Given the description of an element on the screen output the (x, y) to click on. 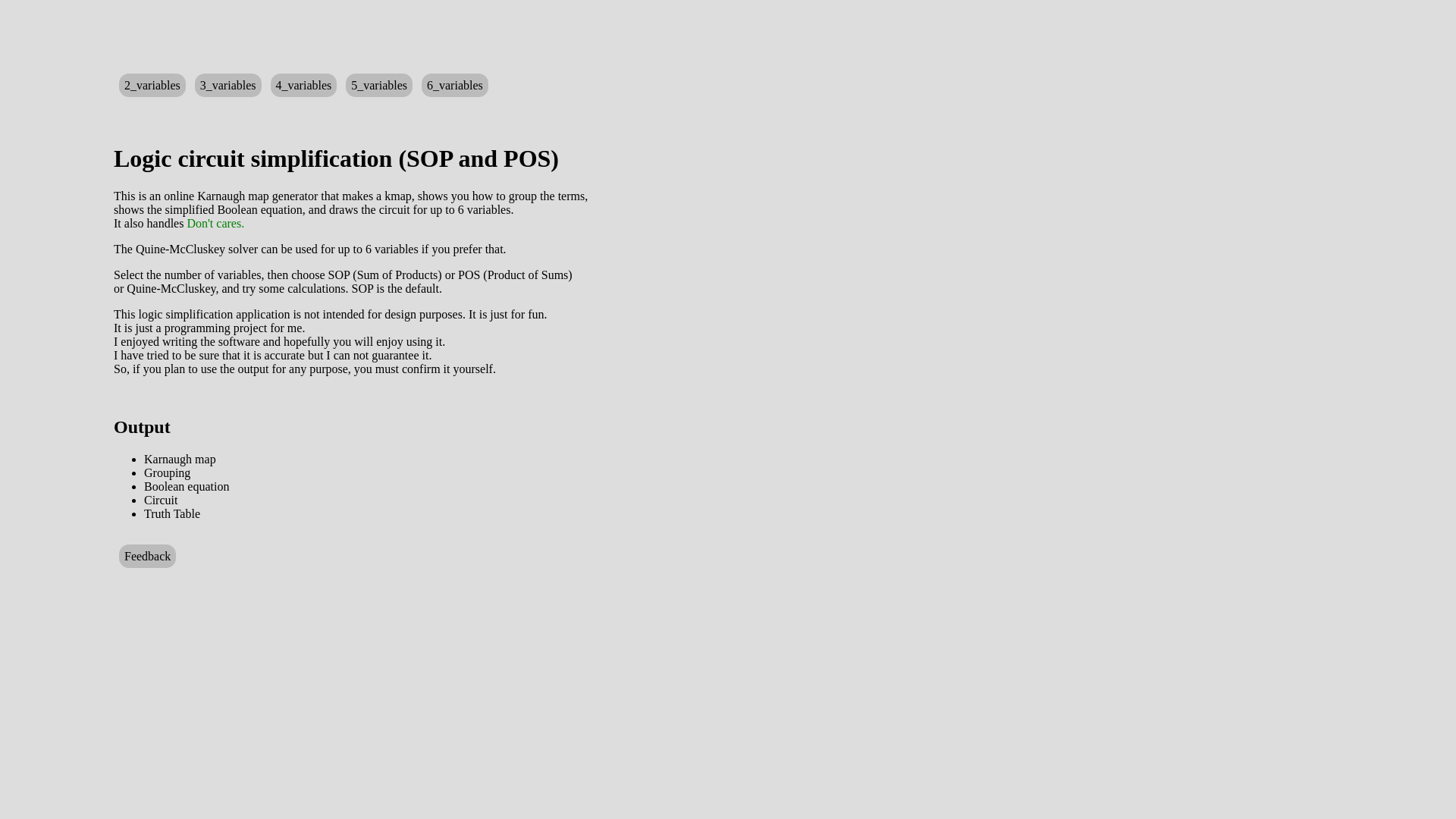
6_variables Element type: text (454, 85)
2_variables Element type: text (152, 85)
5_variables Element type: text (378, 85)
Feedback Element type: text (147, 555)
3_variables Element type: text (227, 85)
4_variables Element type: text (302, 85)
